Given the description of an element on the screen output the (x, y) to click on. 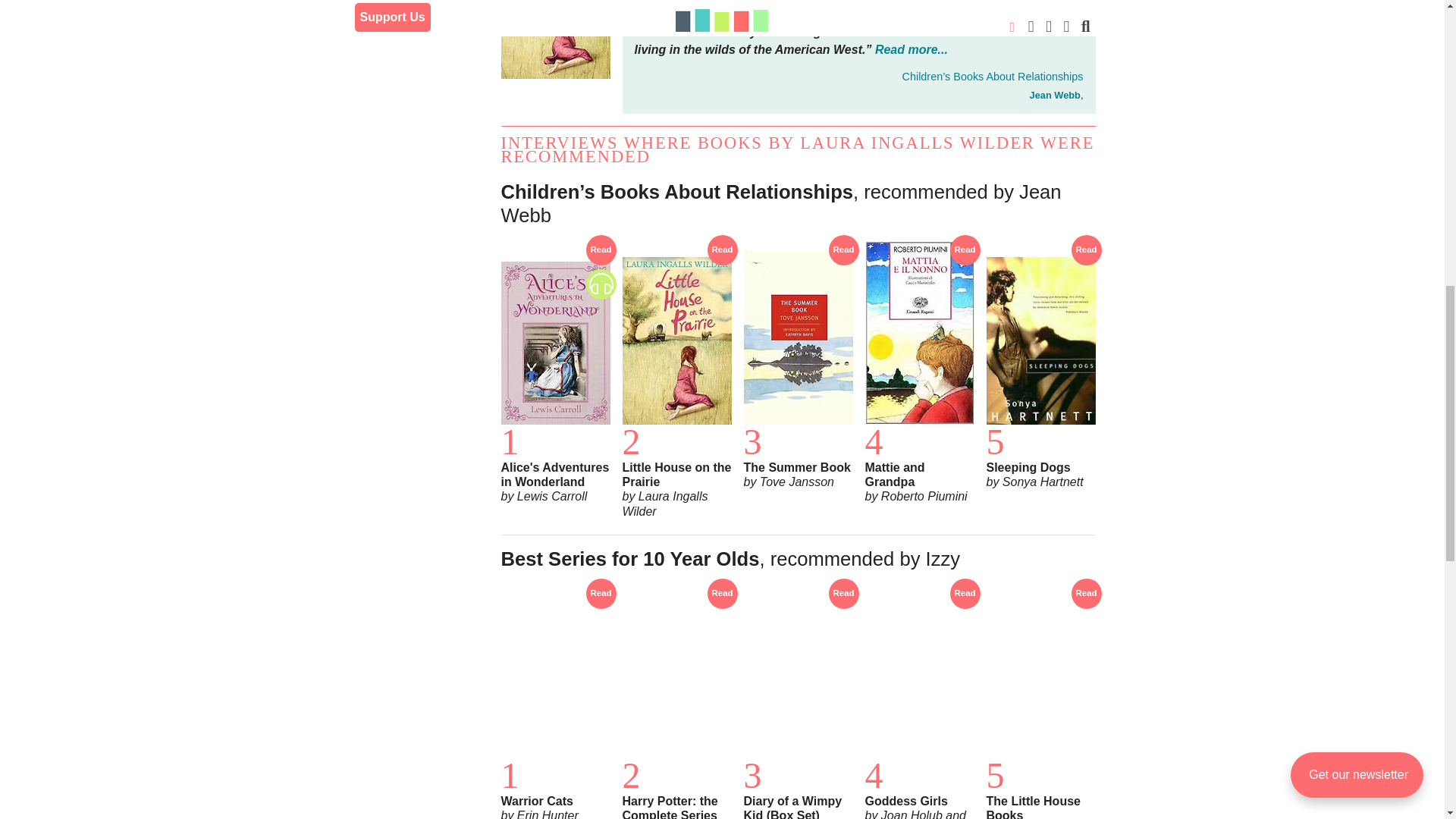
Little House on the Prairie by Laura Ingalls Wilder (555, 39)
Best Series for 10 Year Olds - Warrior Cats by Erin Hunter (555, 703)
